Given the description of an element on the screen output the (x, y) to click on. 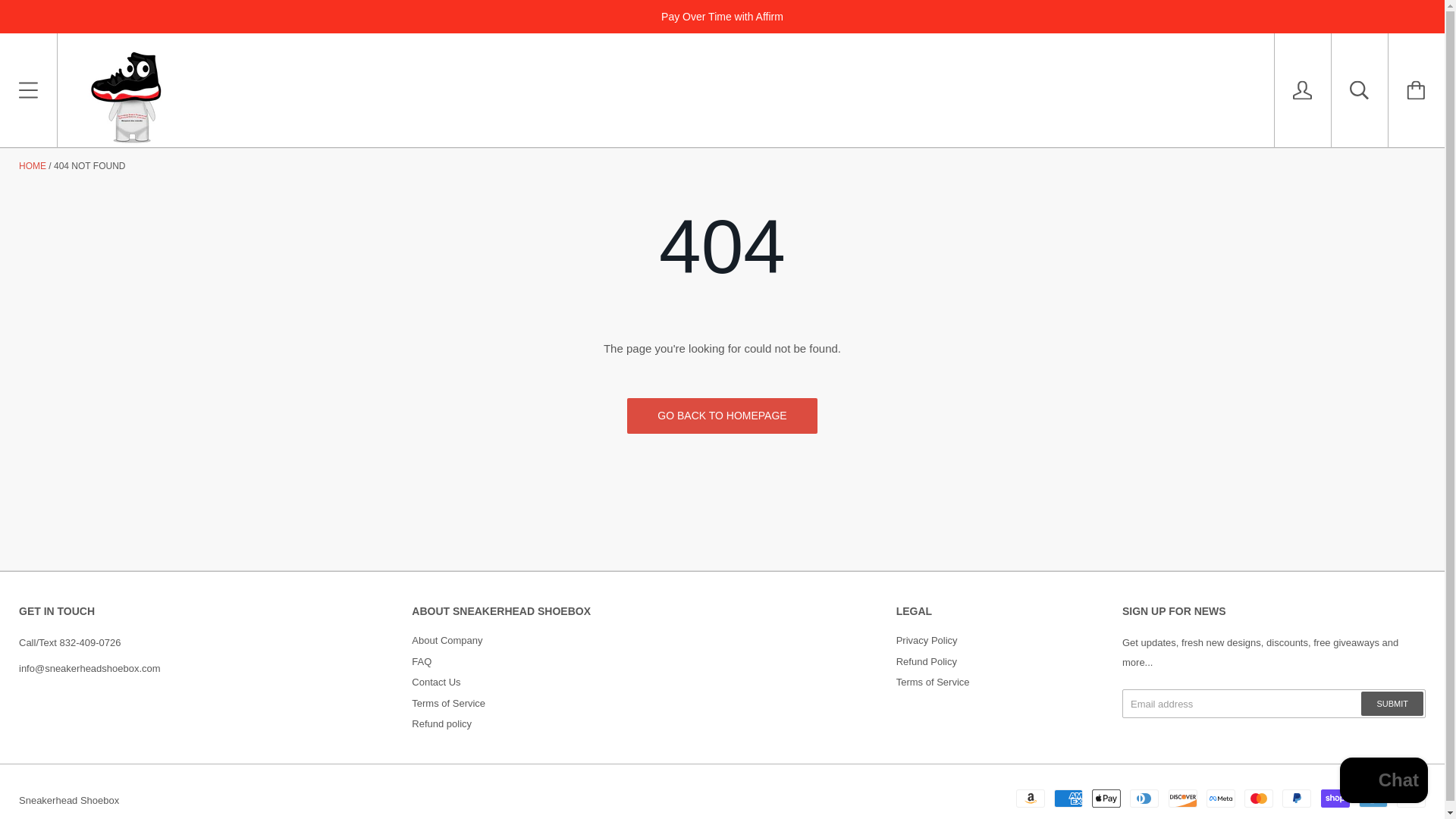
Mastercard (1258, 797)
Shopify online store chat (1383, 781)
FAQ (421, 660)
PayPal (1296, 797)
Amazon (1030, 797)
HOME (32, 165)
Venmo (1372, 797)
American Express (1068, 797)
GO BACK TO HOMEPAGE (721, 416)
Visa (1410, 797)
Shop Pay (1334, 797)
About Company (446, 640)
Discover (1182, 797)
Meta Pay (1220, 797)
Apple Pay (1106, 797)
